Given the description of an element on the screen output the (x, y) to click on. 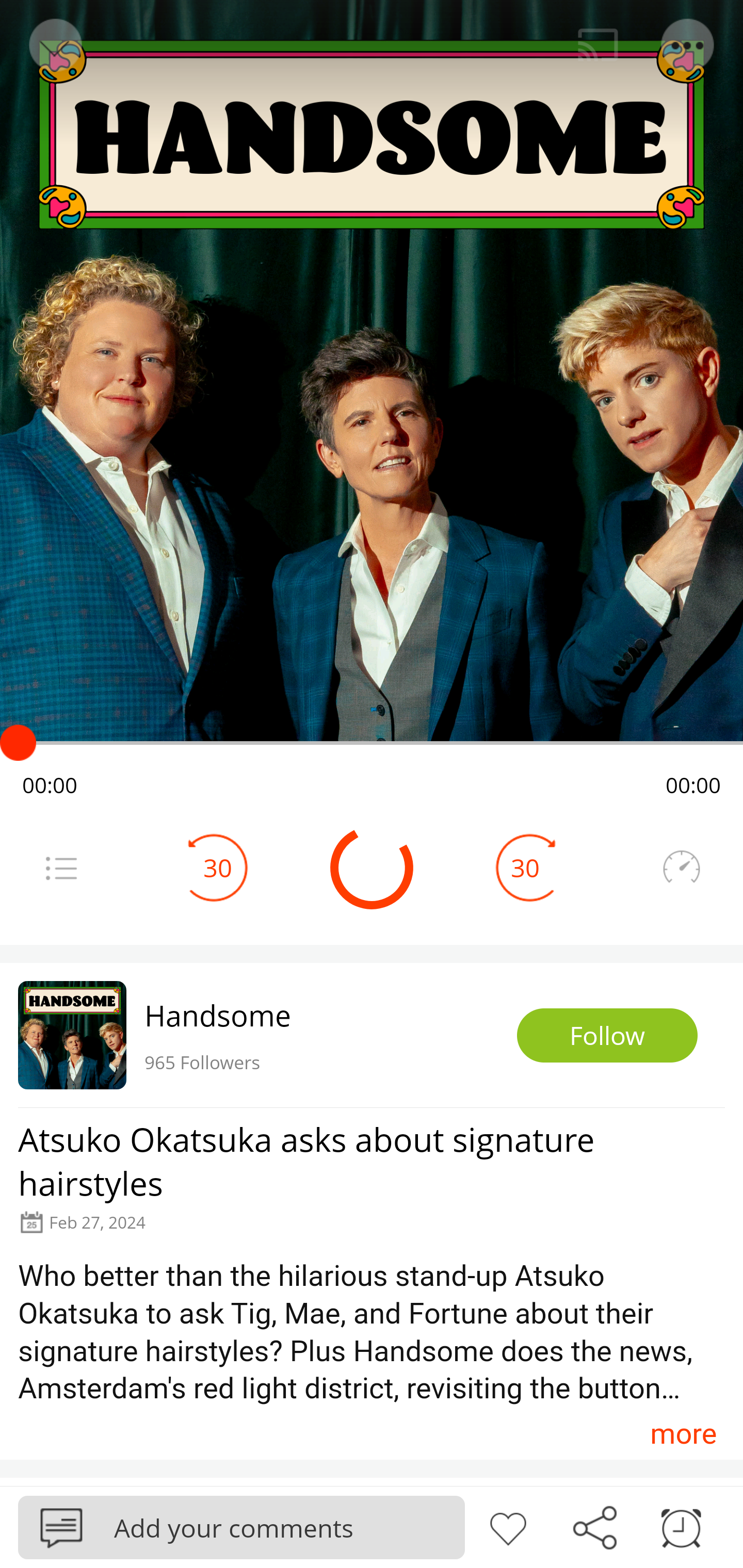
Back (53, 45)
Cast. Disconnected (597, 45)
Menu (688, 45)
30 Seek Backward (217, 867)
30 Seek Forward (525, 867)
Menu (60, 867)
Speedometer (681, 867)
Handsome 965 Followers Follow (371, 1034)
Follow (607, 1035)
more (682, 1432)
Like (508, 1526)
Share (594, 1526)
Sleep timer (681, 1526)
Podbean Add your comments (241, 1526)
